Given the description of an element on the screen output the (x, y) to click on. 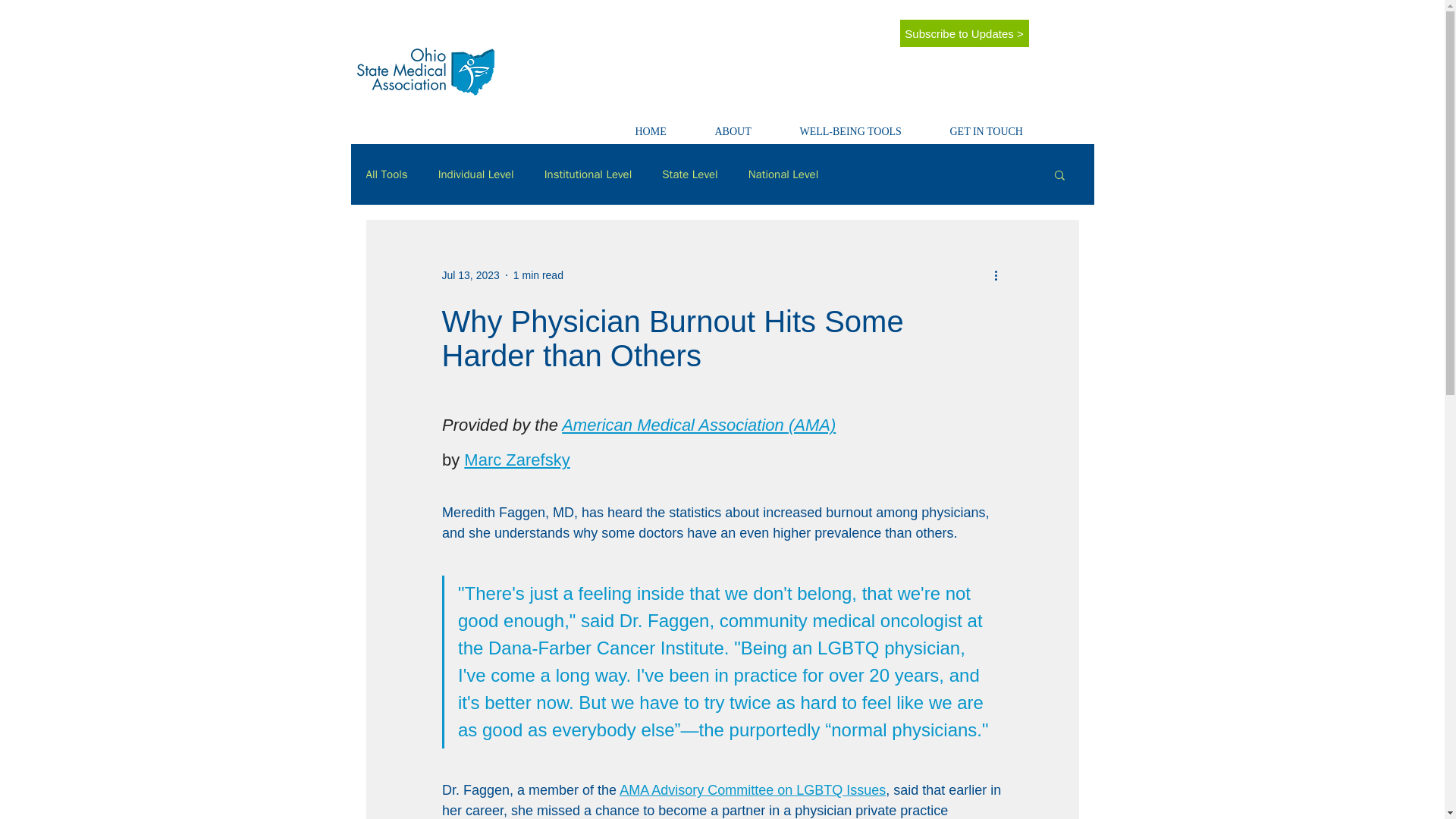
National Level (783, 173)
AMA Advisory Committee on LGBTQ Issues (752, 789)
HOME (664, 124)
Marc Zarefsky (516, 459)
Individual Level (475, 173)
1 min read (538, 274)
All Tools (386, 173)
Institutional Level (587, 173)
State Level (689, 173)
Jul 13, 2023 (470, 274)
